Given the description of an element on the screen output the (x, y) to click on. 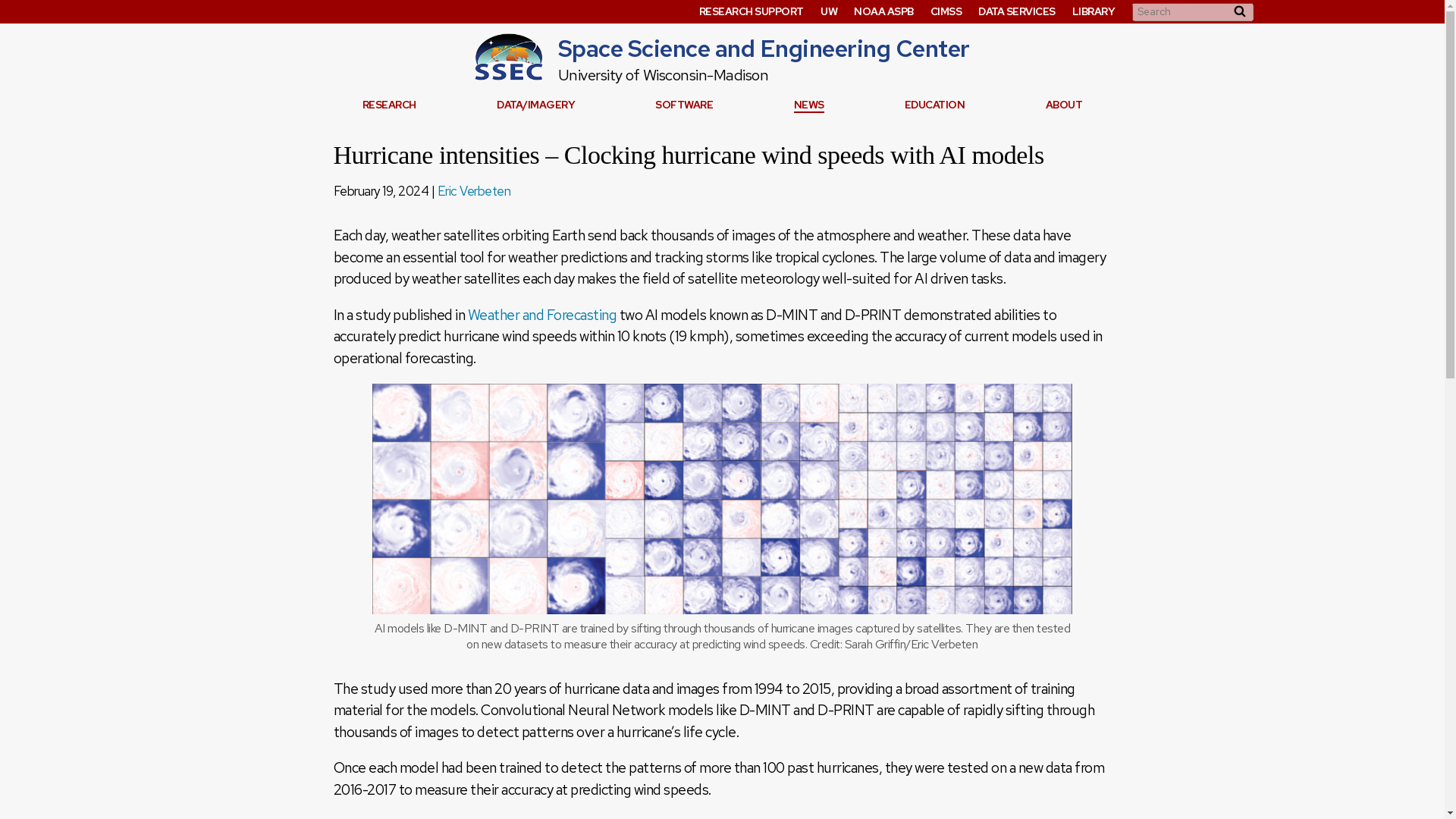
LIBRARY (1093, 11)
ABOUT (1064, 105)
UW (829, 11)
NEWS (808, 105)
Weather and Forecasting (541, 314)
NOAA ASPB (883, 11)
RESEARCH SUPPORT (750, 11)
SOFTWARE (684, 105)
DATA SERVICES (1016, 11)
RESEARCH (389, 105)
